Given the description of an element on the screen output the (x, y) to click on. 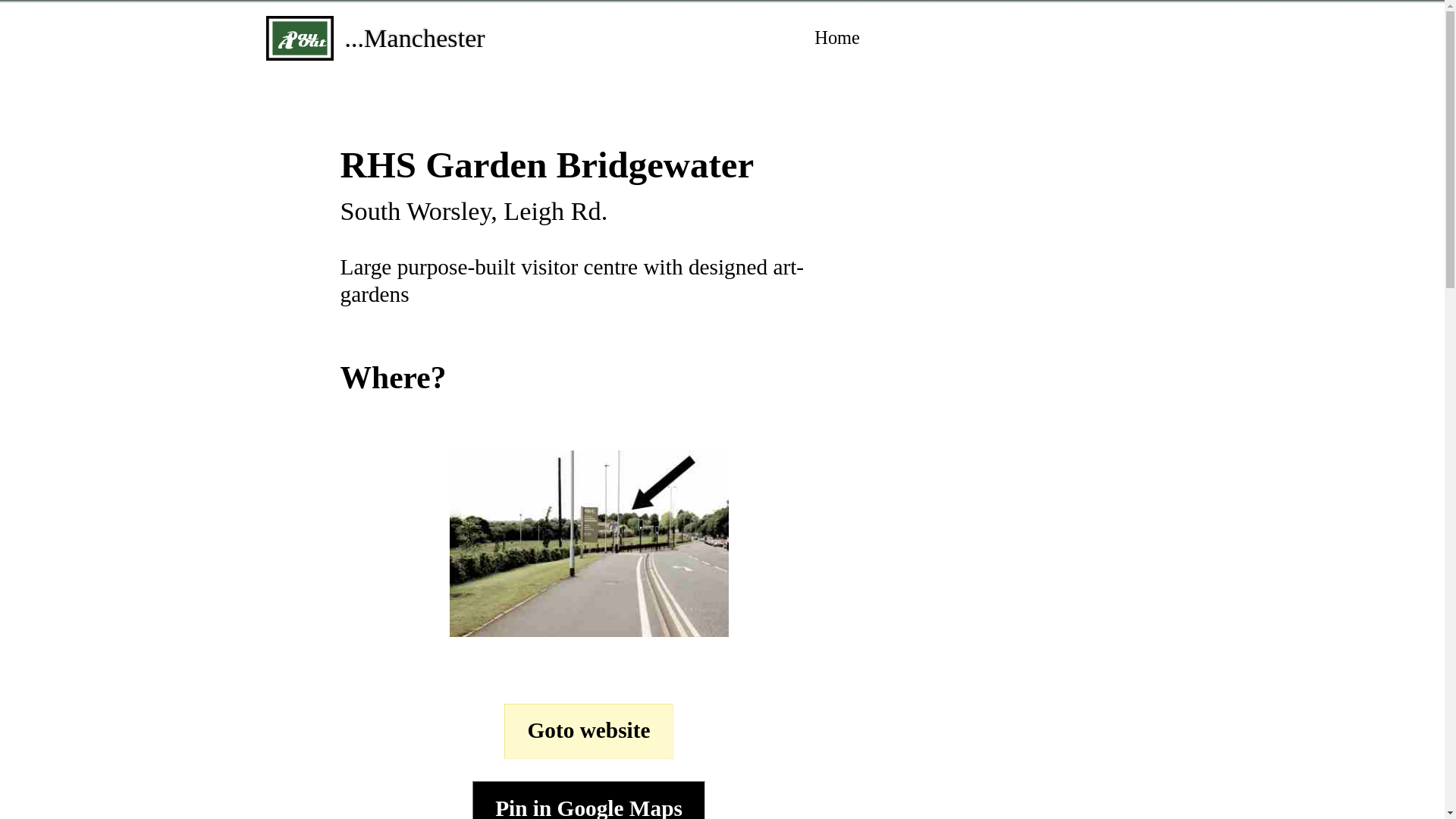
Goto website (587, 731)
Home (837, 38)
Pin in Google Maps (587, 800)
